Given the description of an element on the screen output the (x, y) to click on. 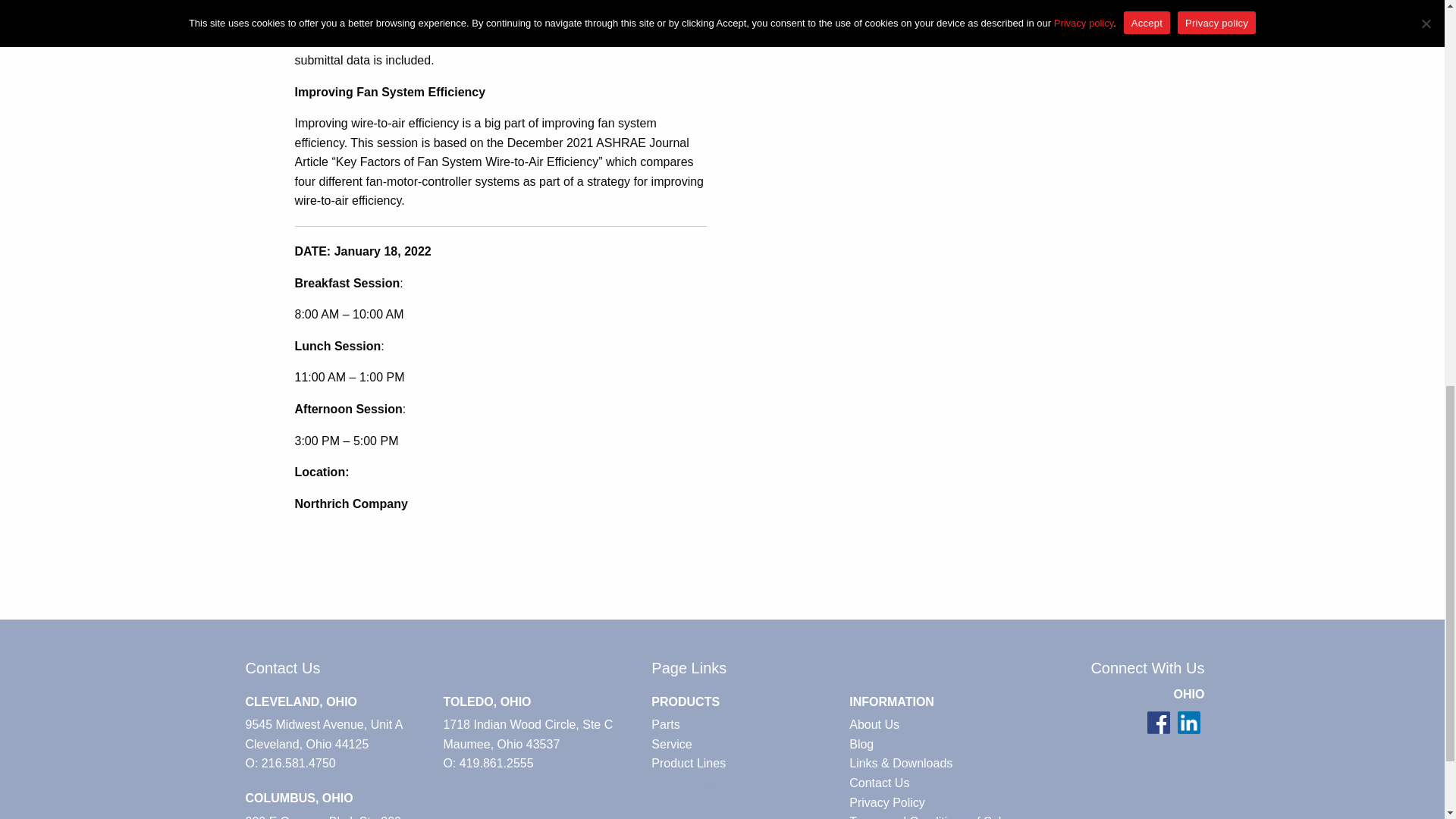
Service (744, 744)
Product Lines (744, 763)
Parts (744, 724)
Privacy Policy (942, 803)
Terms and Conditions of Sale (942, 815)
Blog (942, 744)
About Us (942, 724)
Contact Us (942, 783)
